Given the description of an element on the screen output the (x, y) to click on. 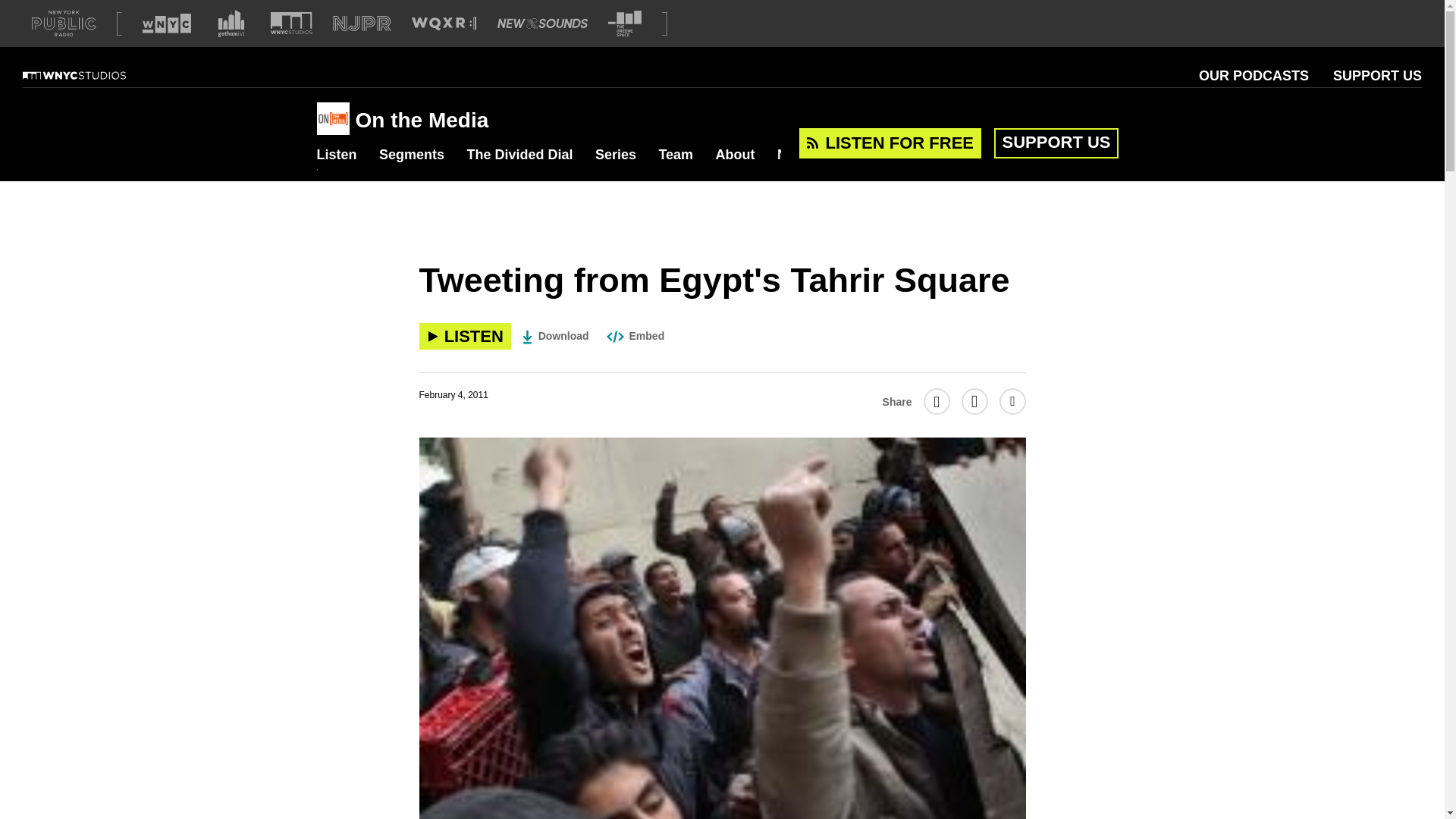
LISTEN FOR FREE (890, 142)
Download "Tweeting from Egypt's Tahrir Square" (555, 336)
Listen (336, 155)
WNYC Studios (93, 75)
Listen to Tweeting from Egypt's Tahrir Square (465, 335)
Segments (411, 155)
SUPPORT US (1377, 75)
Series (615, 155)
About (735, 155)
